Given the description of an element on the screen output the (x, y) to click on. 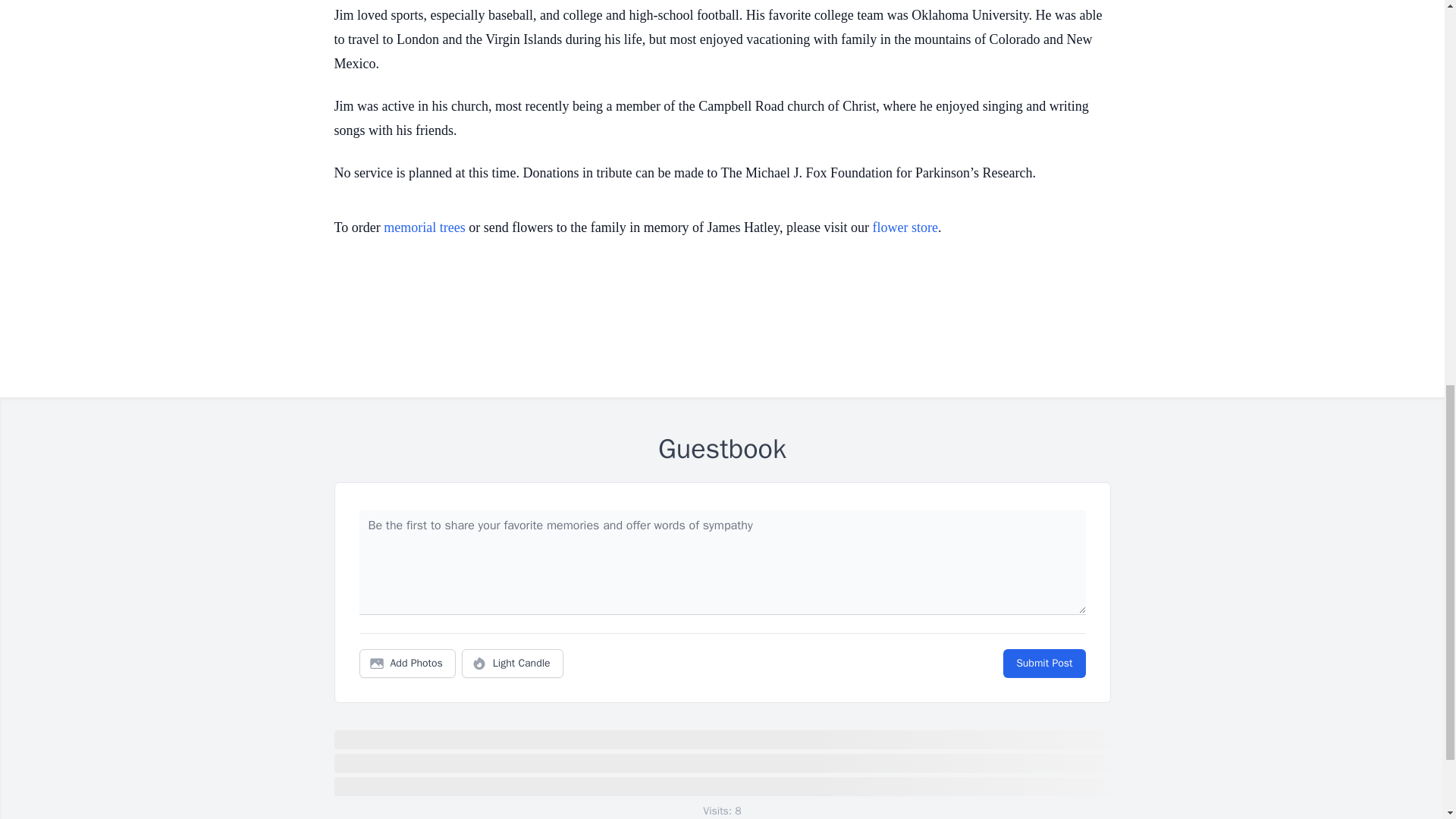
Submit Post (1043, 663)
flower store (904, 227)
Light Candle (512, 663)
memorial trees (424, 227)
Add Photos (407, 663)
